Given the description of an element on the screen output the (x, y) to click on. 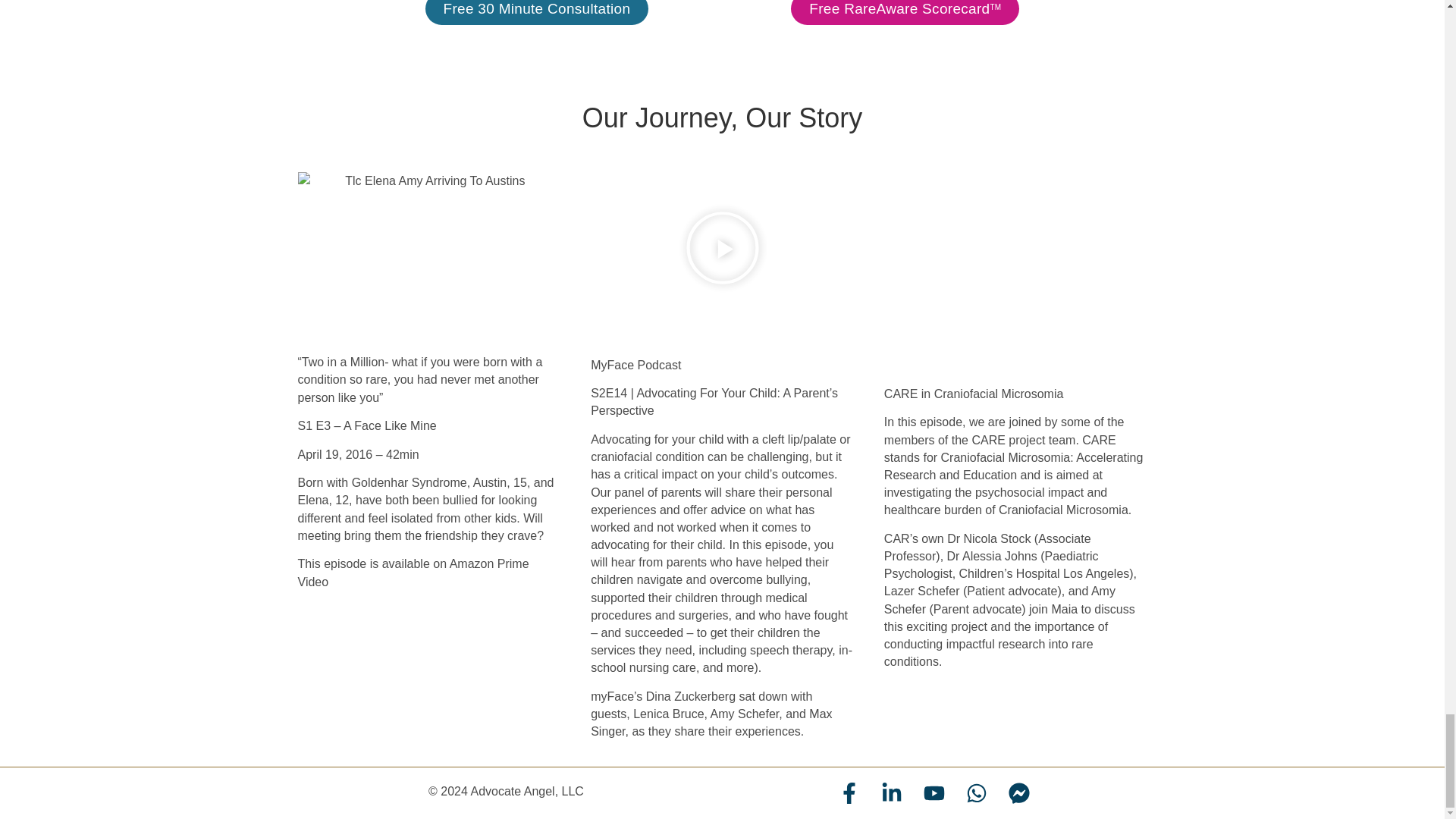
Free RareAware ScorecardTM (904, 12)
Free 30 Minute Consultation (536, 12)
